Given the description of an element on the screen output the (x, y) to click on. 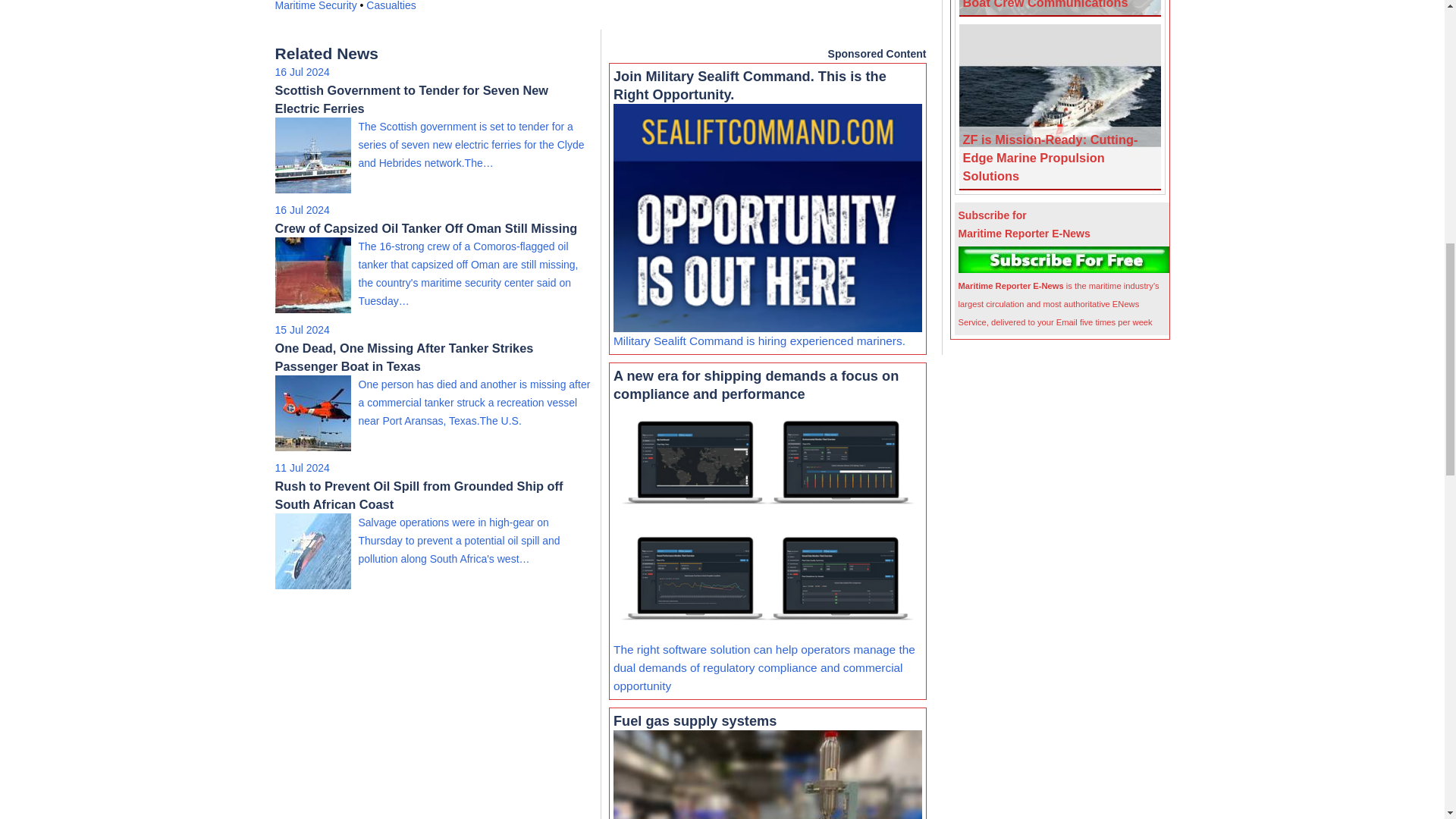
Subscribe (1064, 258)
Maritime Security (315, 5)
Casualties (390, 5)
